Given the description of an element on the screen output the (x, y) to click on. 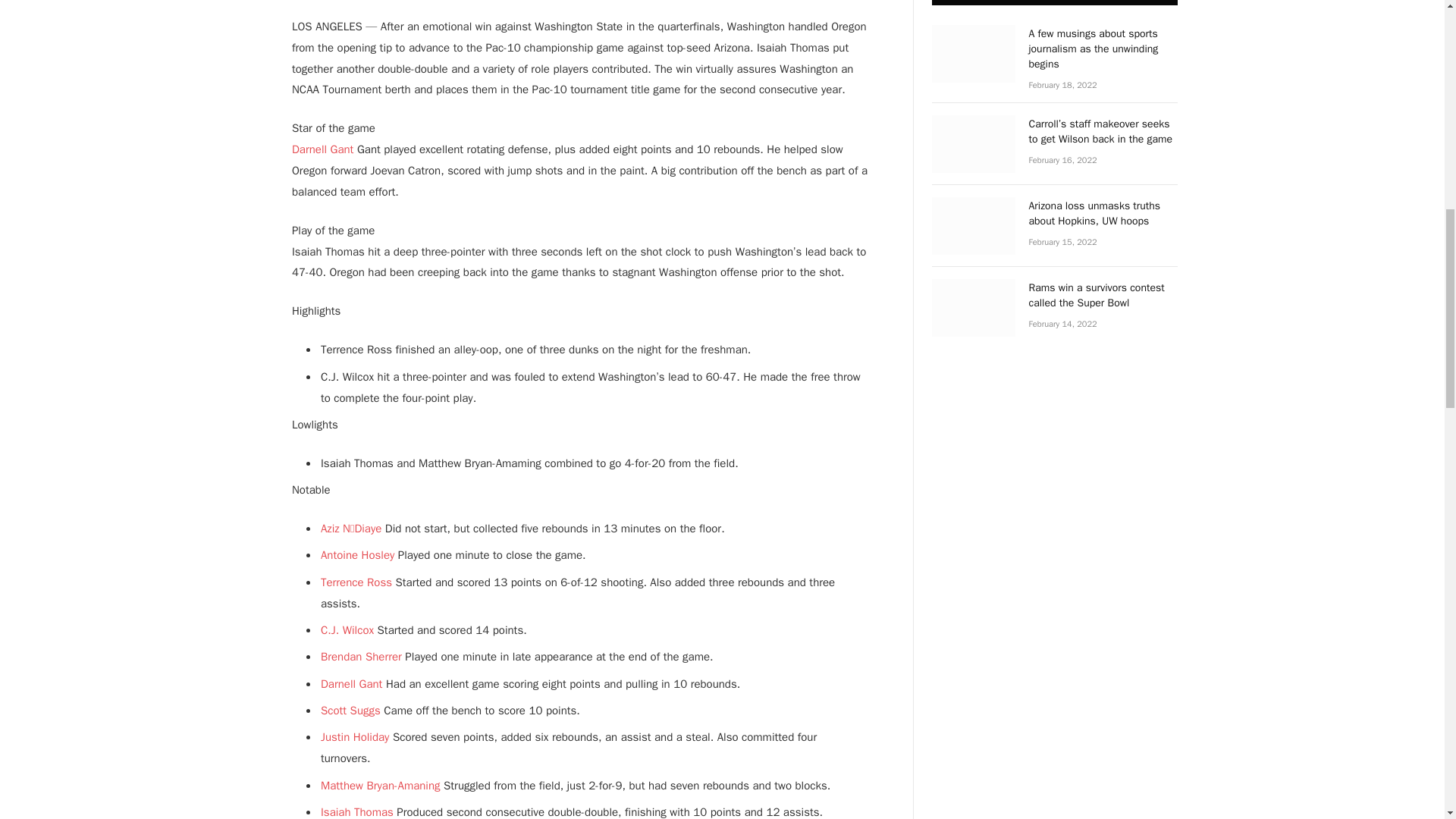
Darnell Gant (322, 149)
Terrence Ross (355, 581)
Brendan Sherrer (360, 656)
Darnell Gant (350, 684)
C.J. Wilcox (347, 630)
Justin Holiday (354, 736)
Scott Suggs (350, 710)
Antoine Hosley (357, 554)
